Given the description of an element on the screen output the (x, y) to click on. 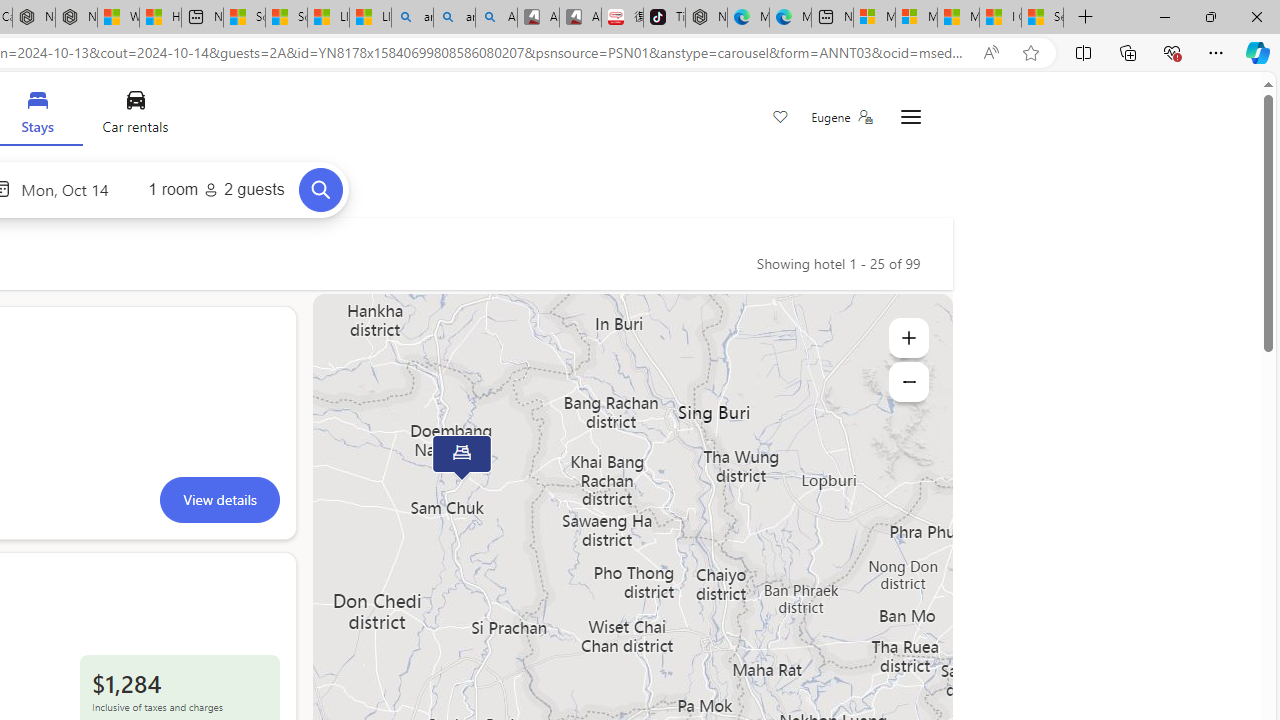
Settings (910, 118)
Zoom out (908, 381)
Huge shark washes ashore at New York City beach | Watch (159, 17)
amazon - Search Images (453, 17)
Eugene (841, 117)
Minimize (1164, 16)
Nordace - Summer Adventures 2024 (76, 17)
View details (219, 499)
Amazon Echo Robot - Search Images (496, 17)
